Given the description of an element on the screen output the (x, y) to click on. 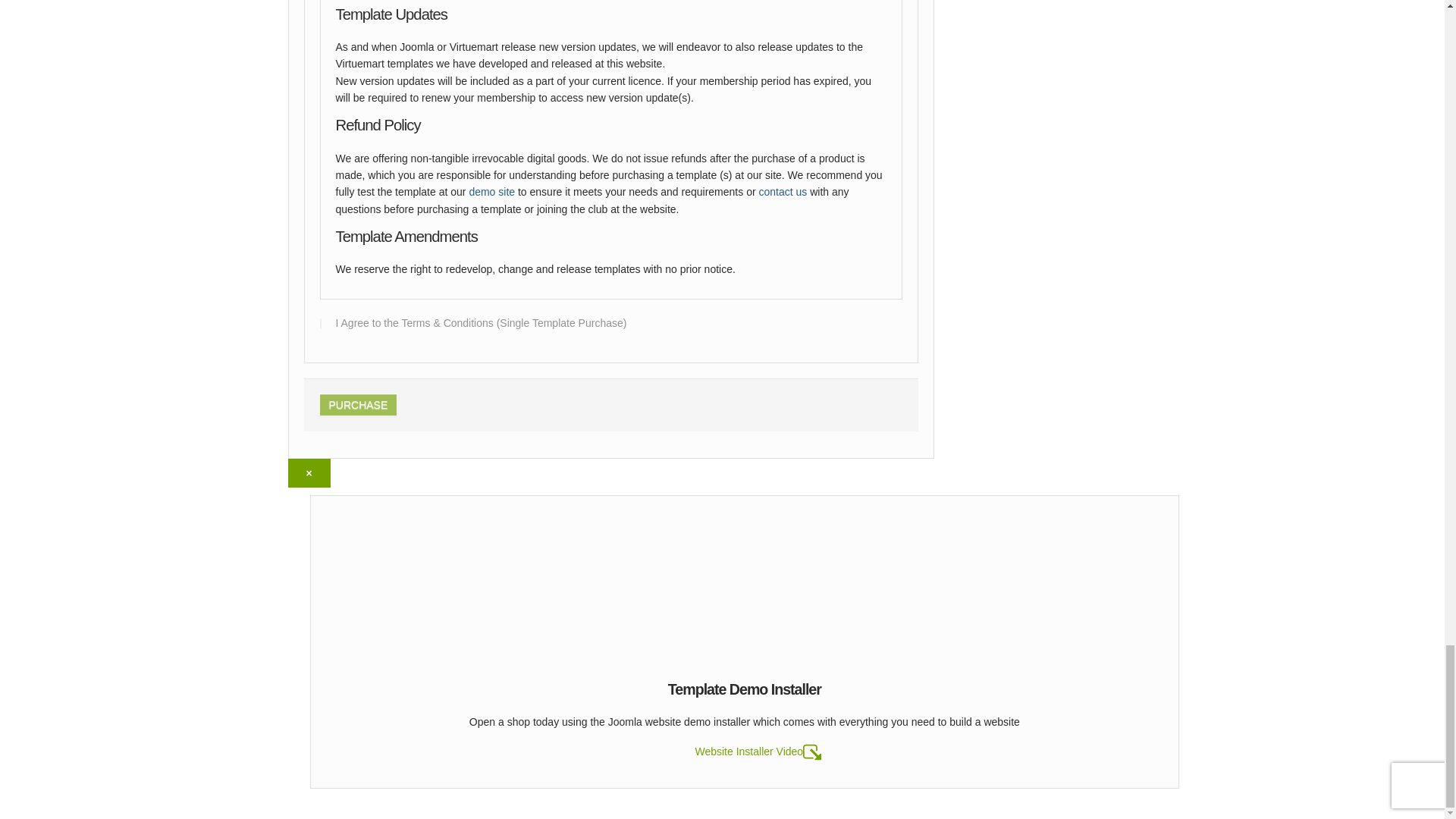
contact us (782, 191)
Close (309, 472)
demo site (491, 191)
